Given the description of an element on the screen output the (x, y) to click on. 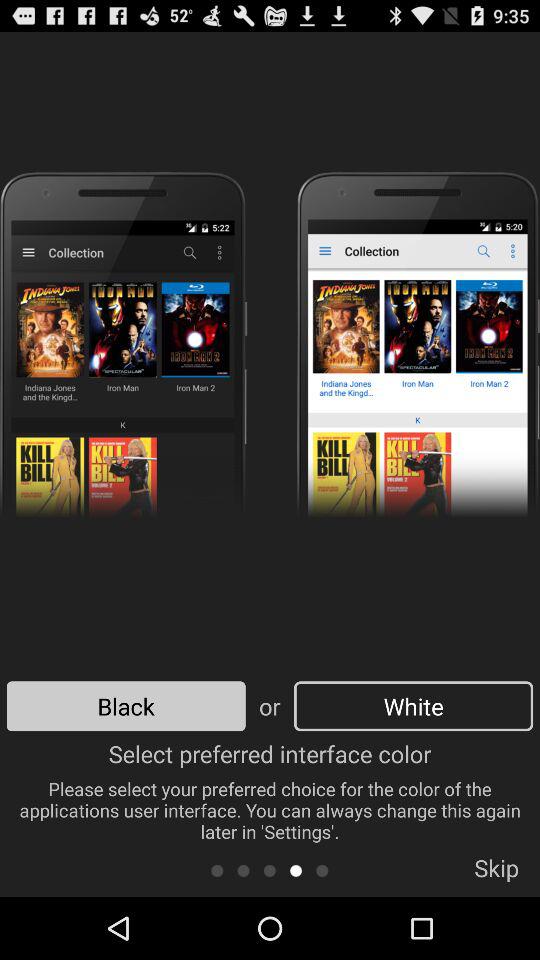
display picture on this link (321, 870)
